Given the description of an element on the screen output the (x, y) to click on. 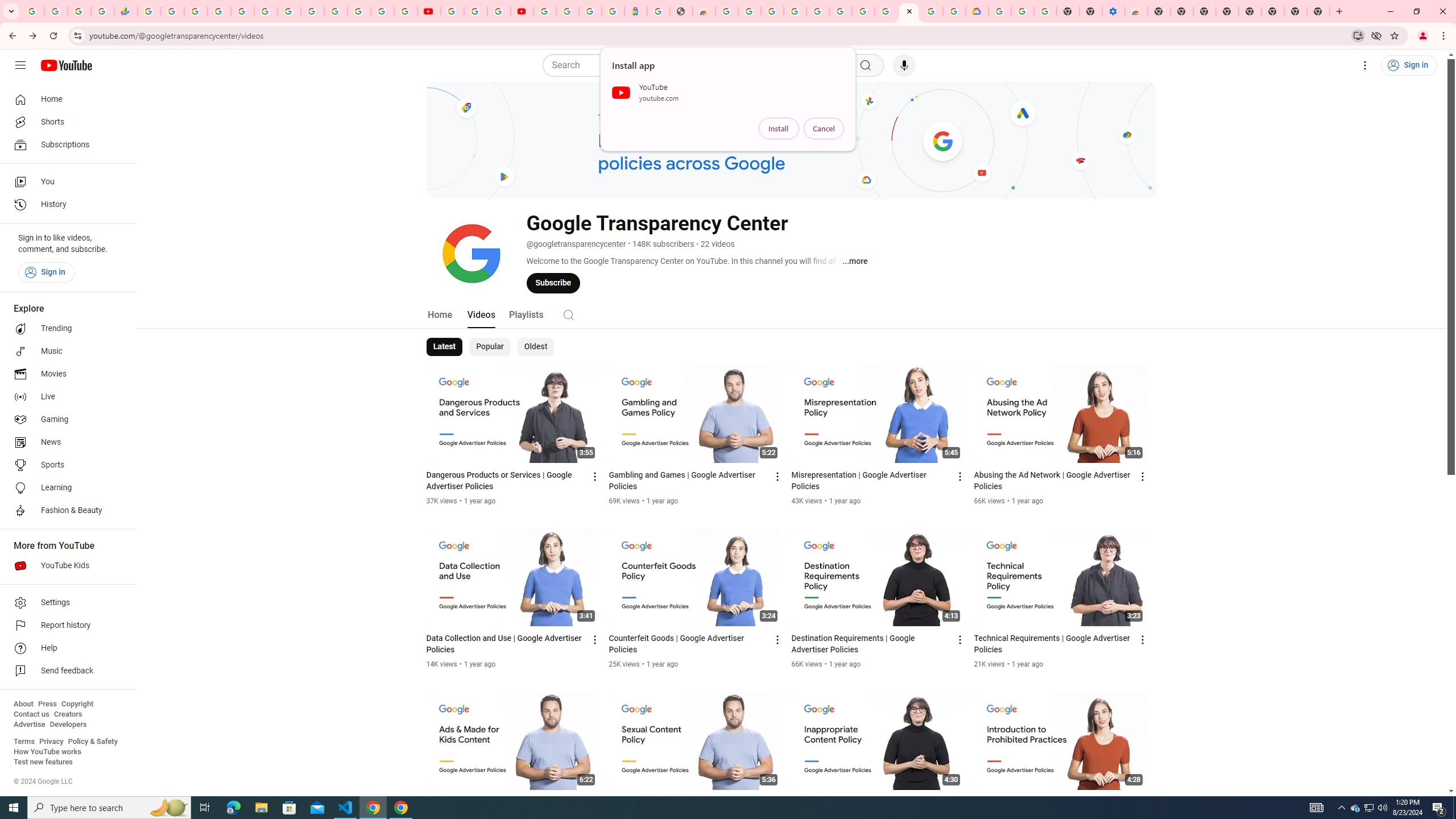
Report history (64, 625)
Cancel (823, 128)
Content Creator Programs & Opportunities - YouTube Creators (521, 11)
New Tab (1318, 11)
Subscribe (552, 282)
How YouTube works (47, 751)
Sports (64, 464)
Oldest (534, 346)
Google Account Help (1022, 11)
